Given the description of an element on the screen output the (x, y) to click on. 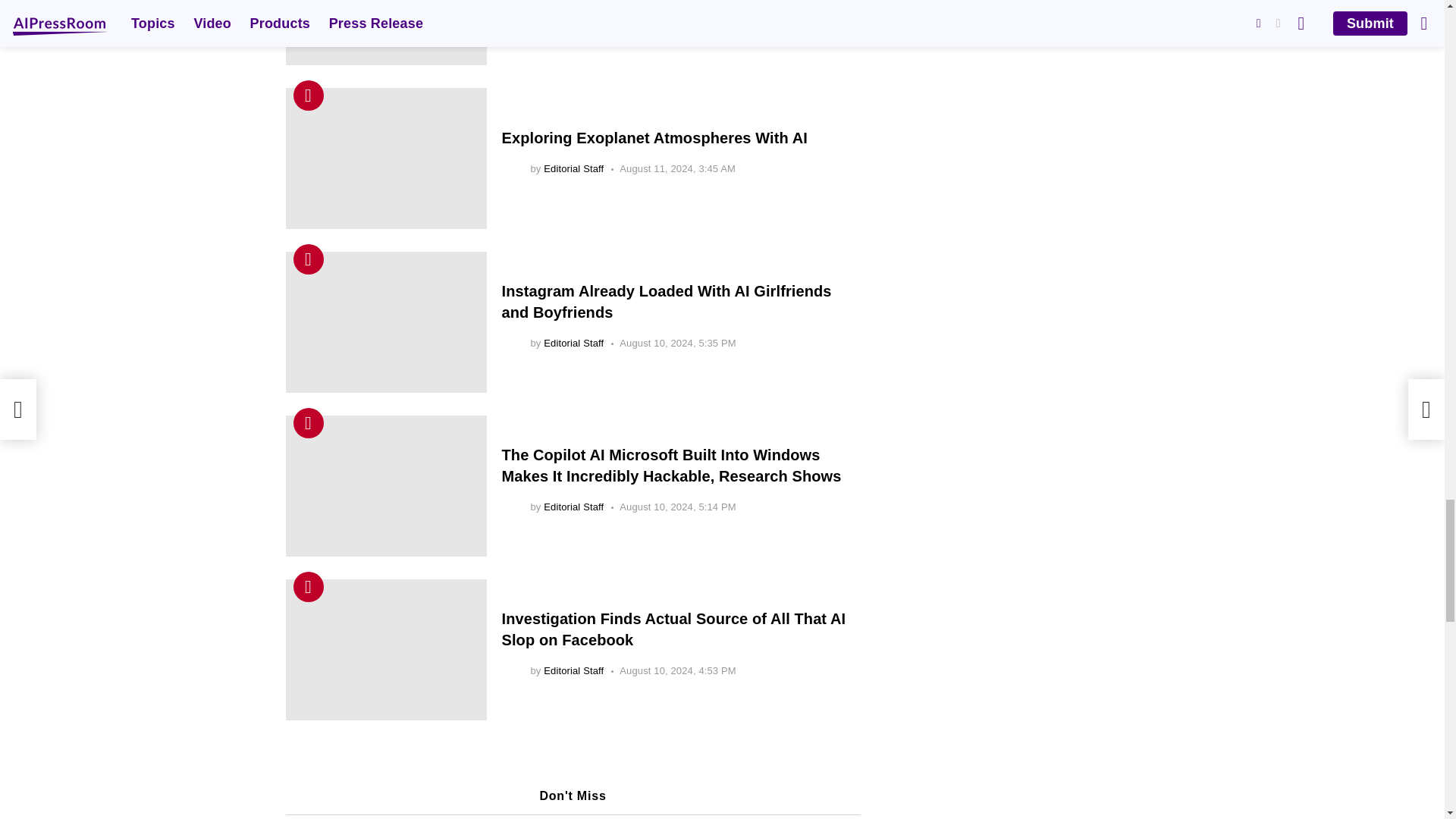
Exploring Exoplanet Atmospheres With AI (385, 158)
Posts by Editorial Staff (573, 15)
